Given the description of an element on the screen output the (x, y) to click on. 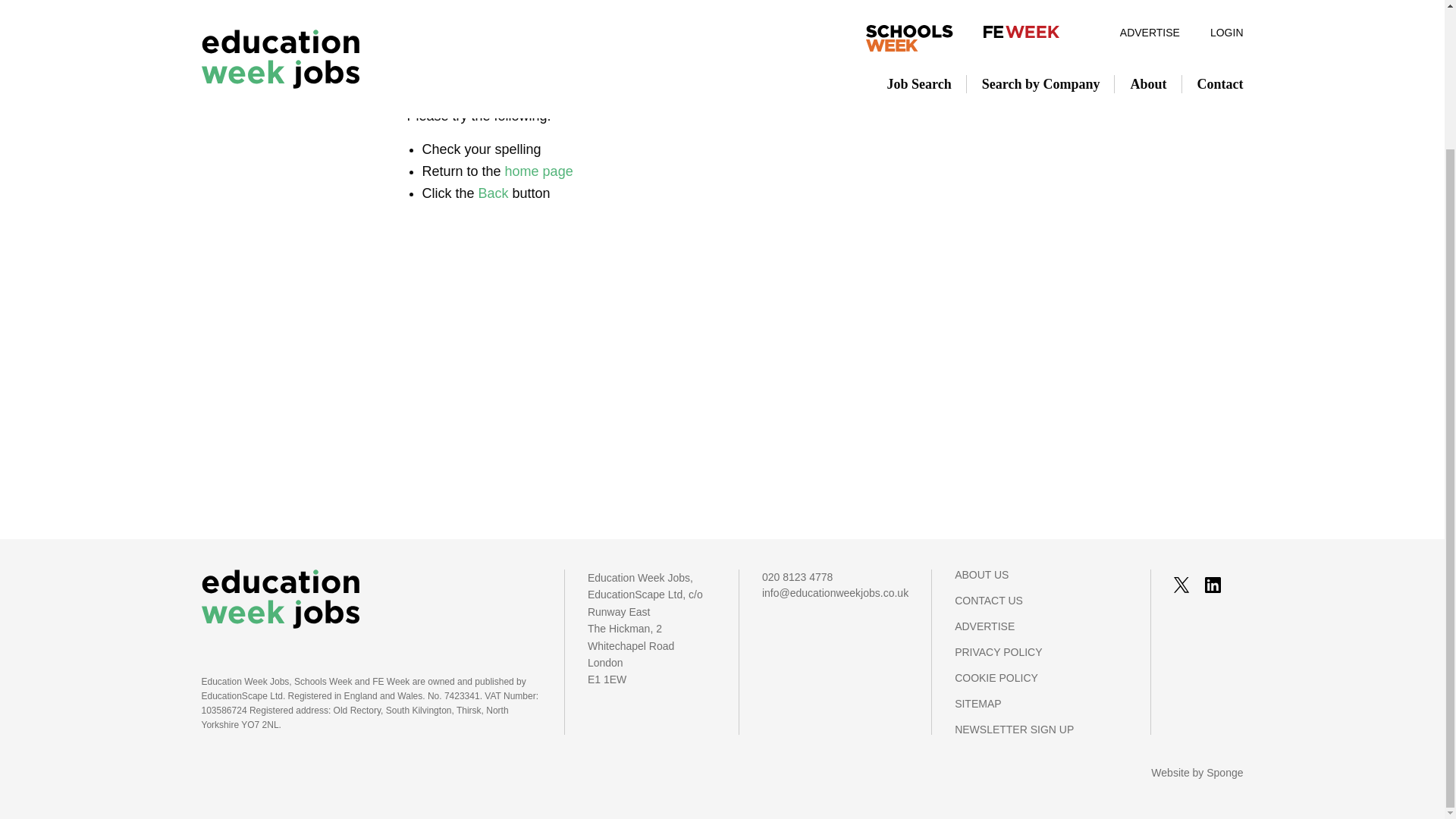
ADVERTISE (1040, 633)
NEWSLETTER SIGN UP (1040, 728)
CONTACT US (1040, 607)
home page (539, 171)
SITEMAP (1040, 710)
Back (493, 192)
020 8123 4778 (834, 577)
ABOUT US (1040, 582)
PRIVACY POLICY (1040, 659)
COOKIE POLICY (1040, 685)
Website by Sponge (1197, 772)
